Given the description of an element on the screen output the (x, y) to click on. 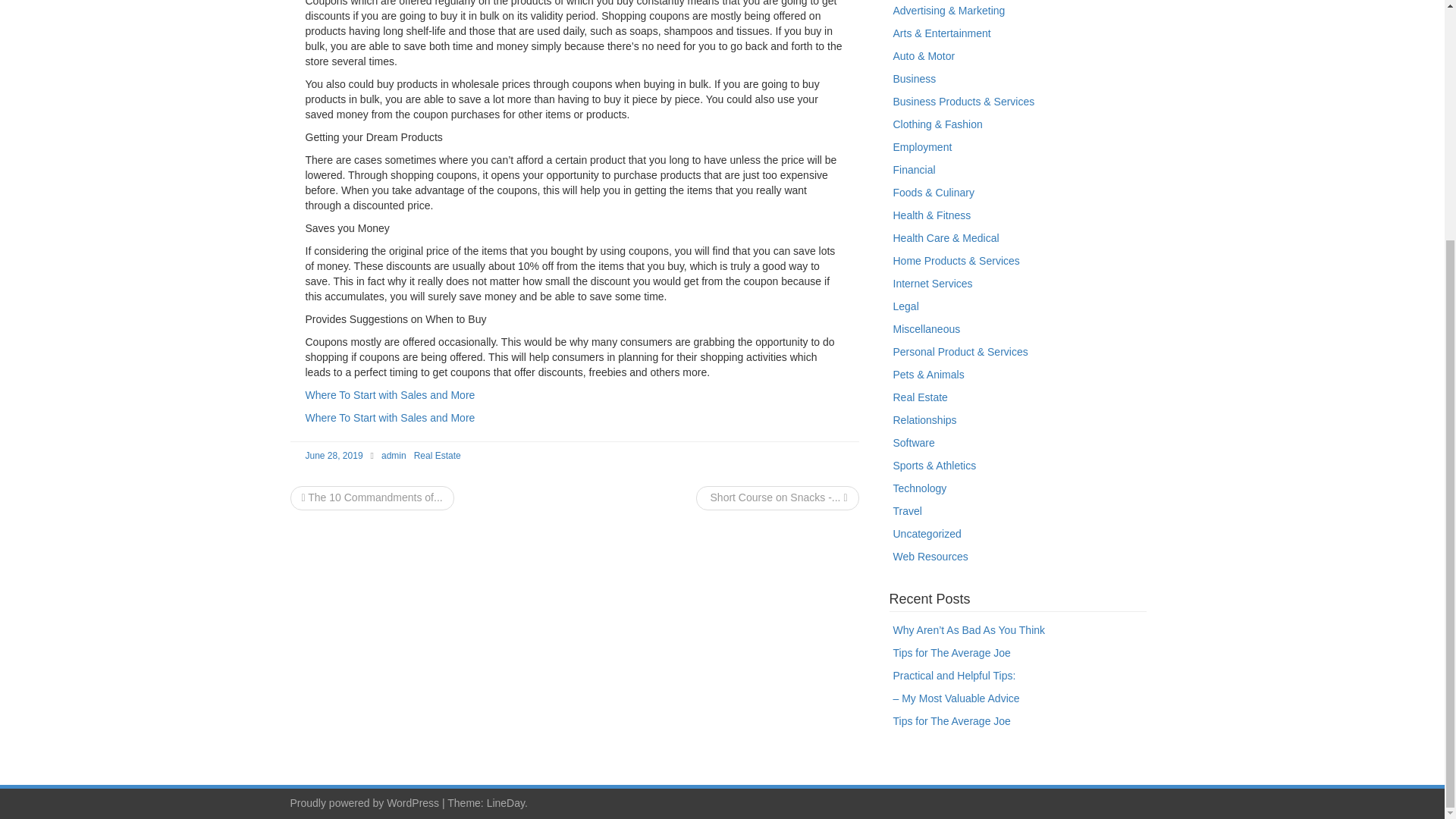
Travel (907, 510)
Practical and Helpful Tips: (954, 675)
Employment (922, 146)
Tips for The Average Joe (951, 653)
Financial (914, 169)
Uncategorized (926, 533)
 Short Course on Snacks -...  (777, 497)
 The 10 Commandments of... (371, 497)
Business (914, 78)
June 28, 2019 (333, 455)
